Given the description of an element on the screen output the (x, y) to click on. 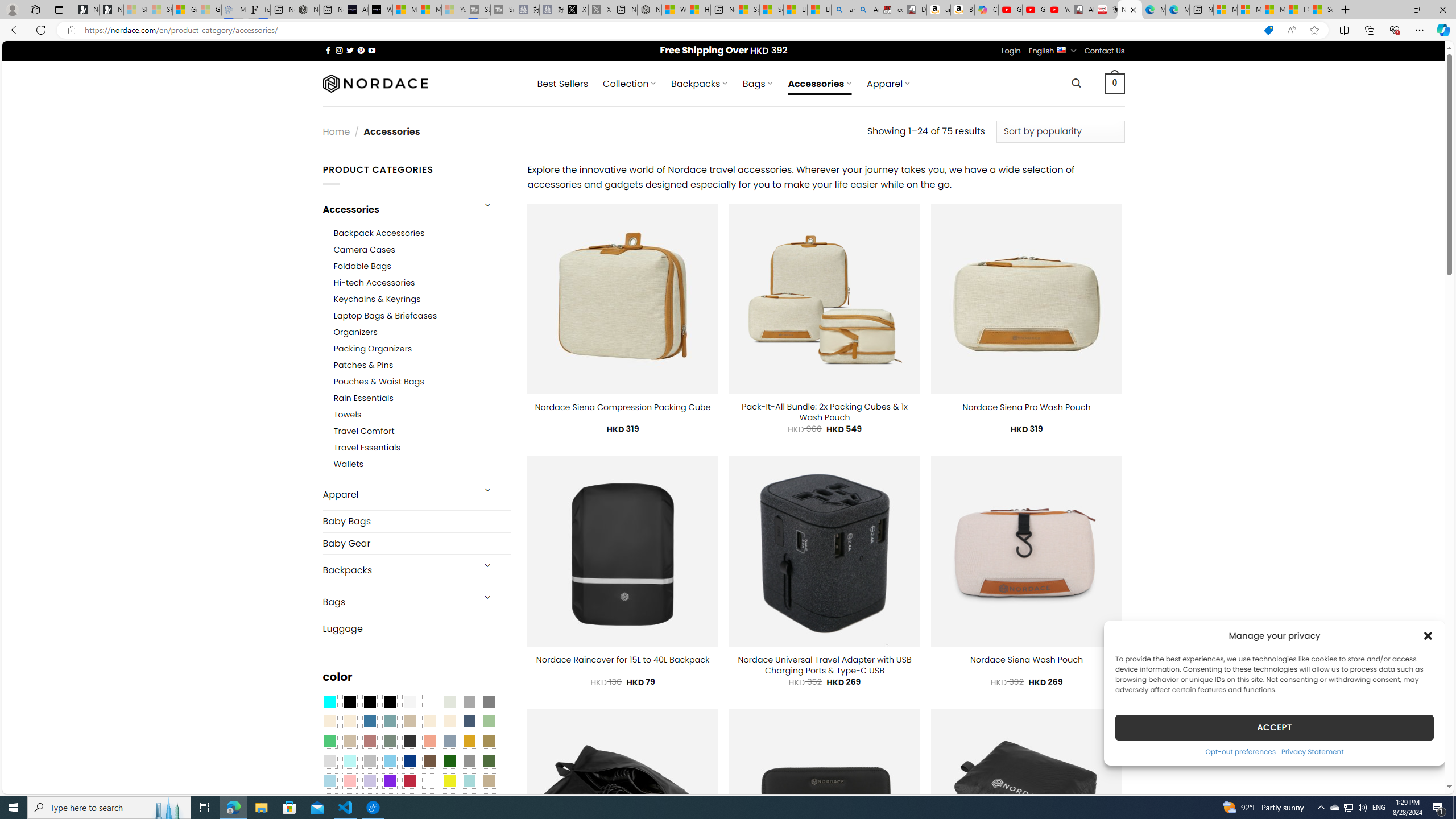
Bags (397, 602)
Dark Green (449, 761)
Clear (429, 701)
Baby Bags (416, 521)
Follow on YouTube (371, 49)
Light Gray (329, 761)
Nordace - My Account (648, 9)
Rain Essentials (422, 398)
Towels (347, 415)
